Given the description of an element on the screen output the (x, y) to click on. 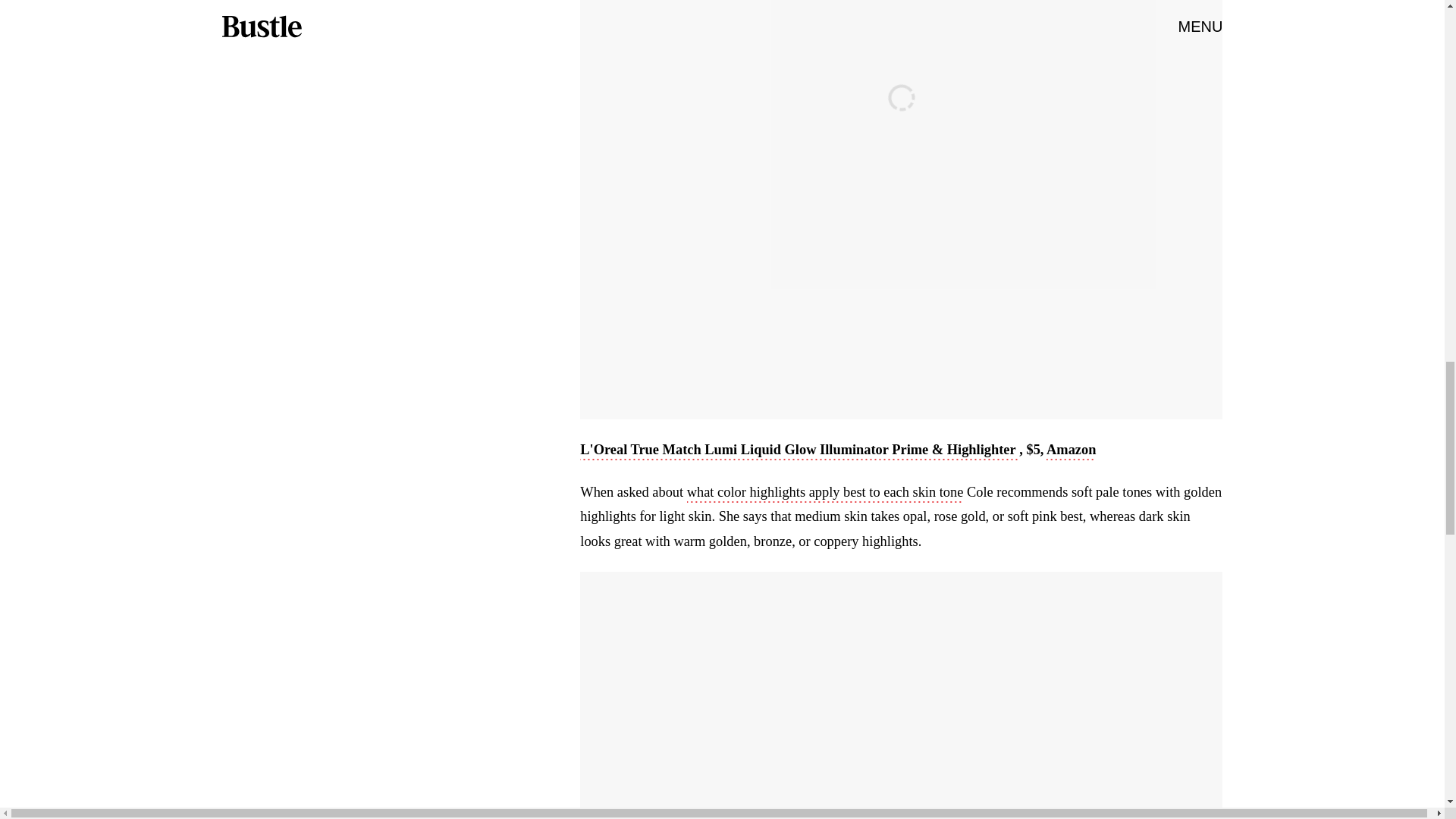
Amazon (1071, 451)
what color highlights apply best to each skin tone (825, 493)
